Given the description of an element on the screen output the (x, y) to click on. 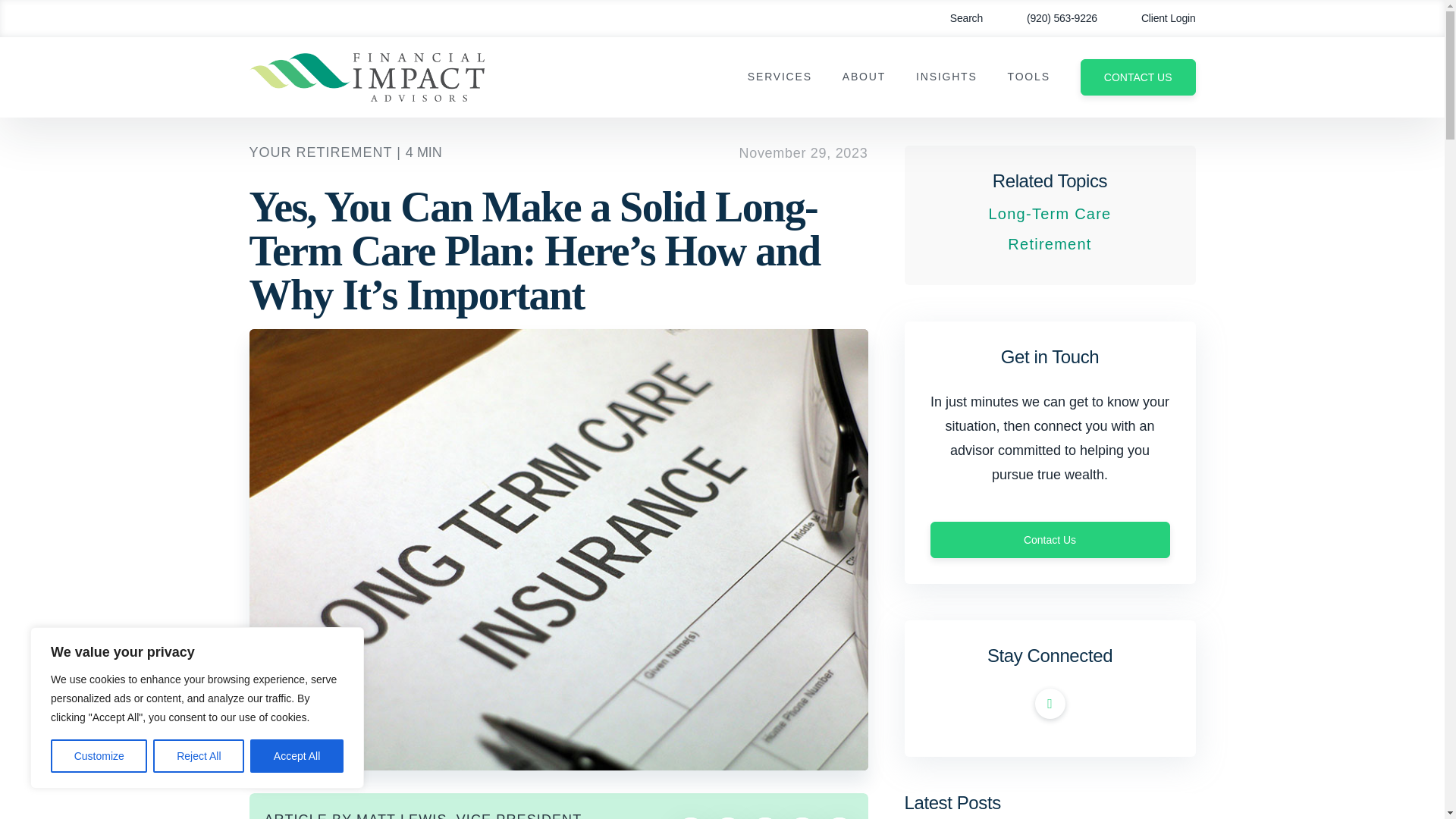
Search (955, 18)
ABOUT (864, 77)
Reject All (198, 756)
TOOLS (1028, 77)
Customize (98, 756)
INSIGHTS (945, 77)
SERVICES (780, 77)
Accept All (296, 756)
Client Login (1157, 18)
